Given the description of an element on the screen output the (x, y) to click on. 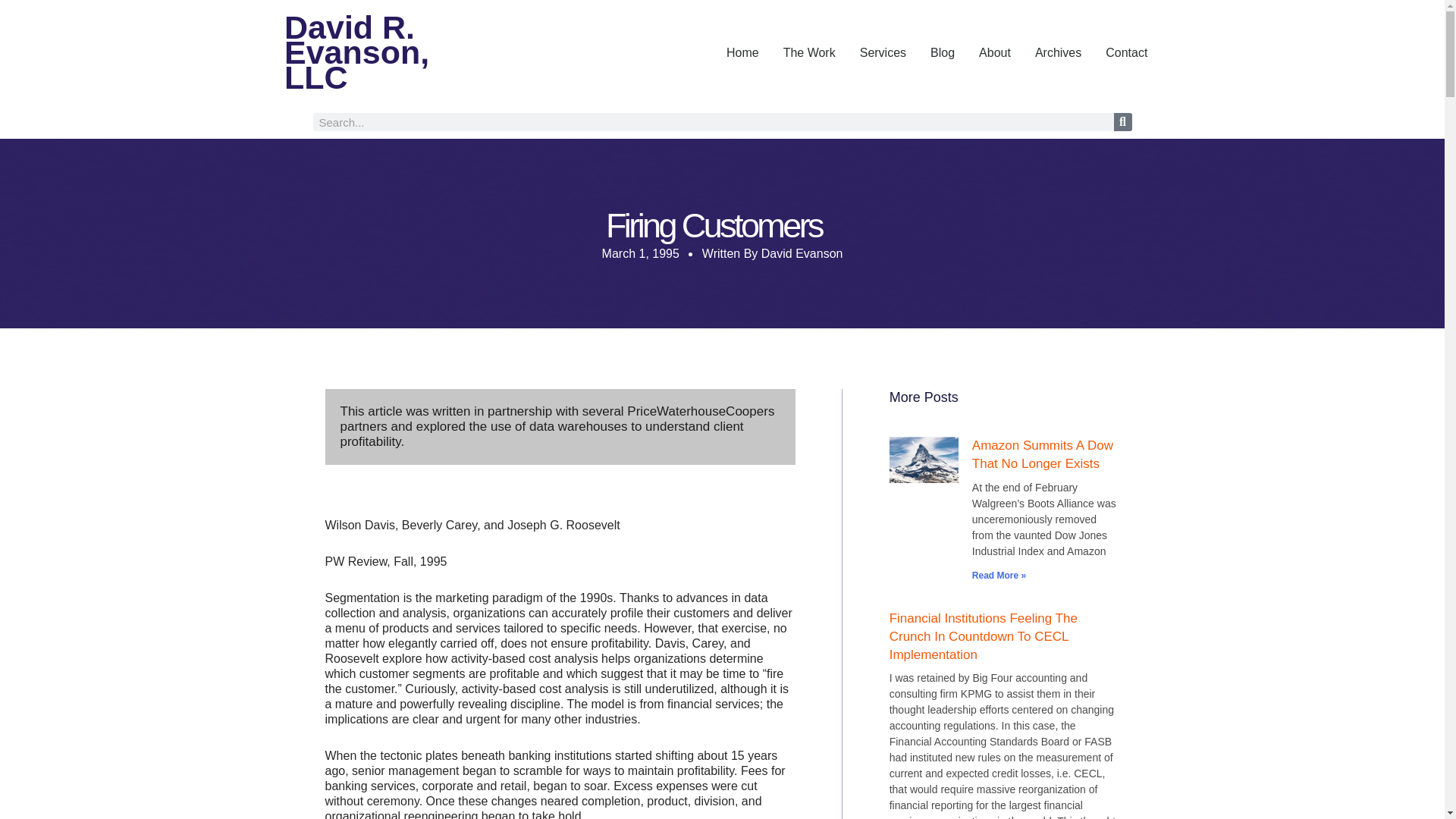
Contact (1125, 52)
March 1, 1995 (640, 253)
Amazon Summits A Dow That No Longer Exists (1042, 454)
Blog (942, 52)
David R. Evanson, LLC (380, 52)
Search (1122, 122)
Written By David Evanson (772, 253)
About (994, 52)
The Work (809, 52)
Services (882, 52)
Home (742, 52)
Archives (1058, 52)
